Given the description of an element on the screen output the (x, y) to click on. 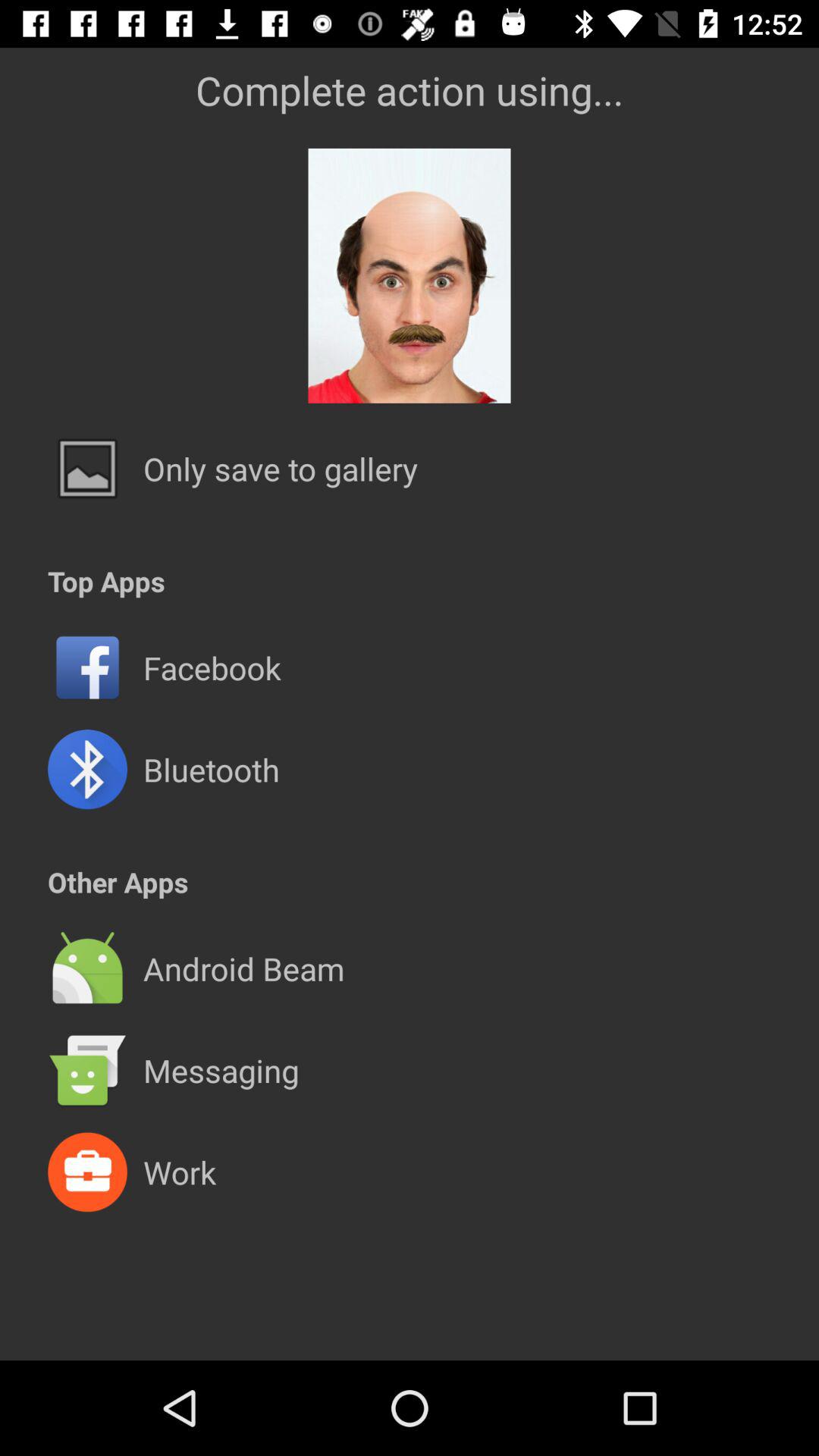
launch the item below top apps item (409, 616)
